Given the description of an element on the screen output the (x, y) to click on. 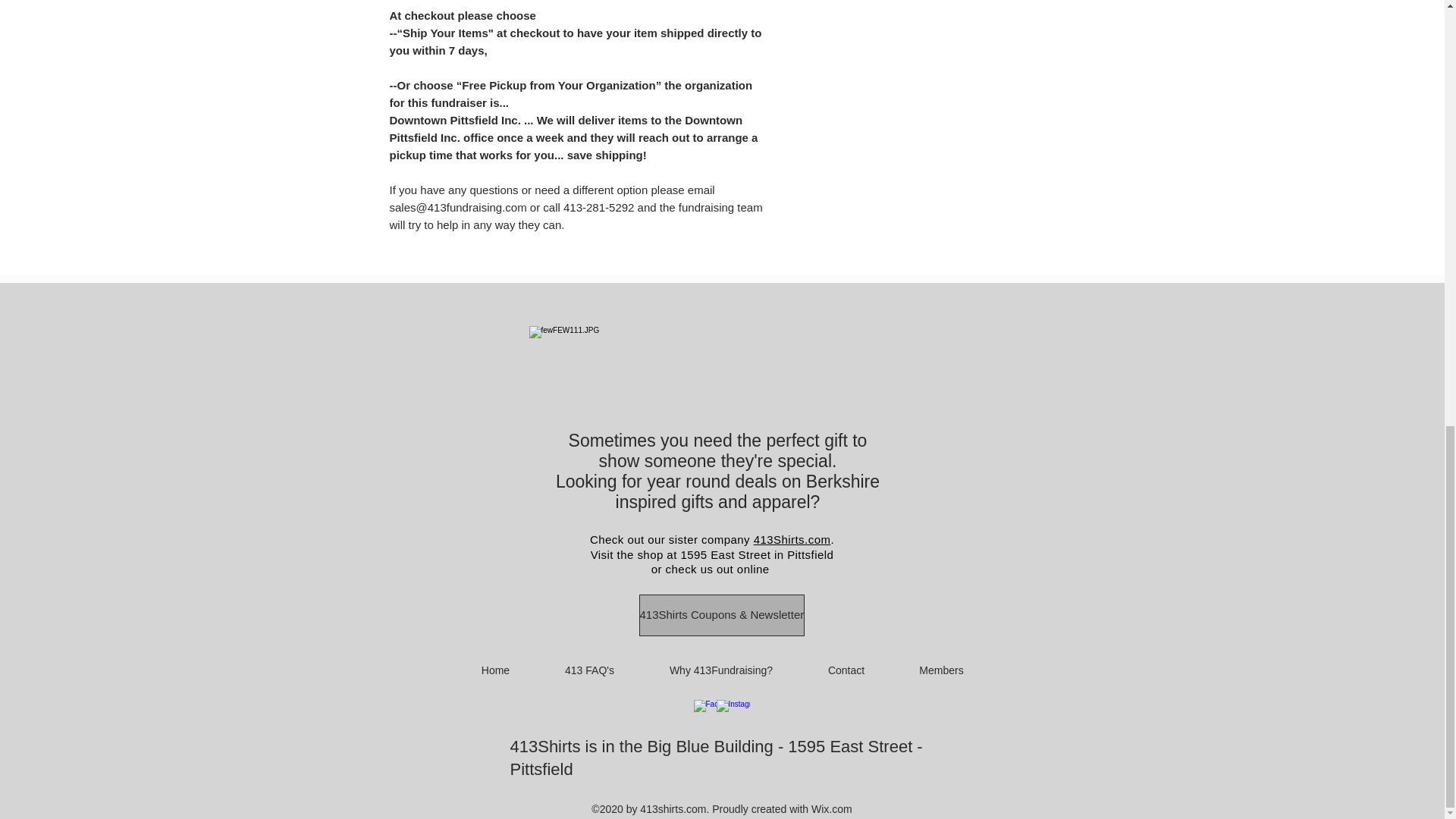
Why 413Fundraising? (720, 670)
Members (940, 670)
Contact (846, 670)
413 FAQ's (589, 670)
413Shirts.com (792, 539)
Home (494, 670)
